Given the description of an element on the screen output the (x, y) to click on. 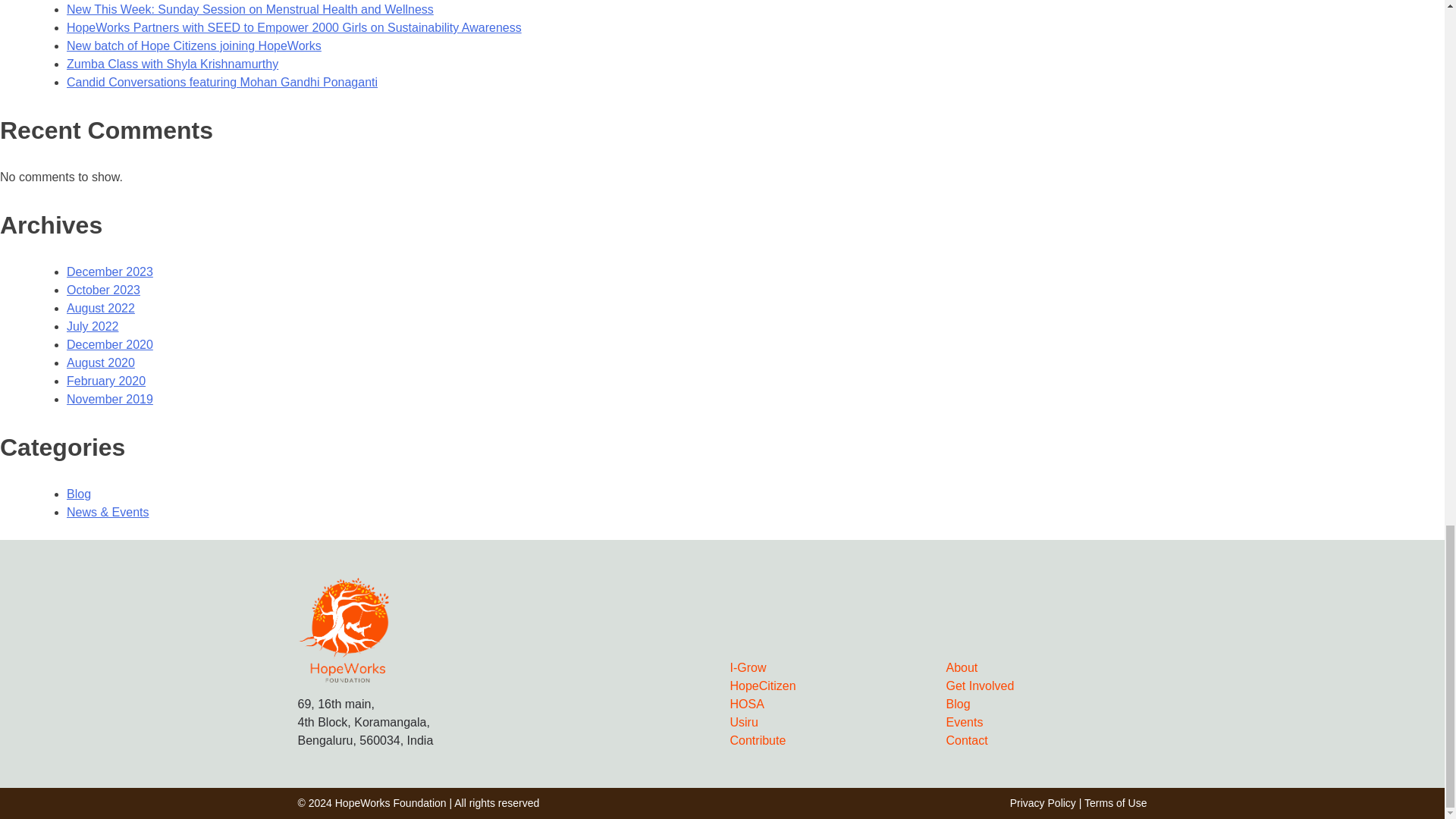
October 2023 (102, 289)
December 2020 (109, 344)
August 2022 (100, 308)
New batch of Hope Citizens joining HopeWorks (193, 45)
Candid Conversations featuring Mohan Gandhi Ponaganti (221, 82)
Zumba Class with Shyla Krishnamurthy (172, 63)
August 2020 (100, 362)
July 2022 (92, 326)
December 2023 (109, 271)
